Given the description of an element on the screen output the (x, y) to click on. 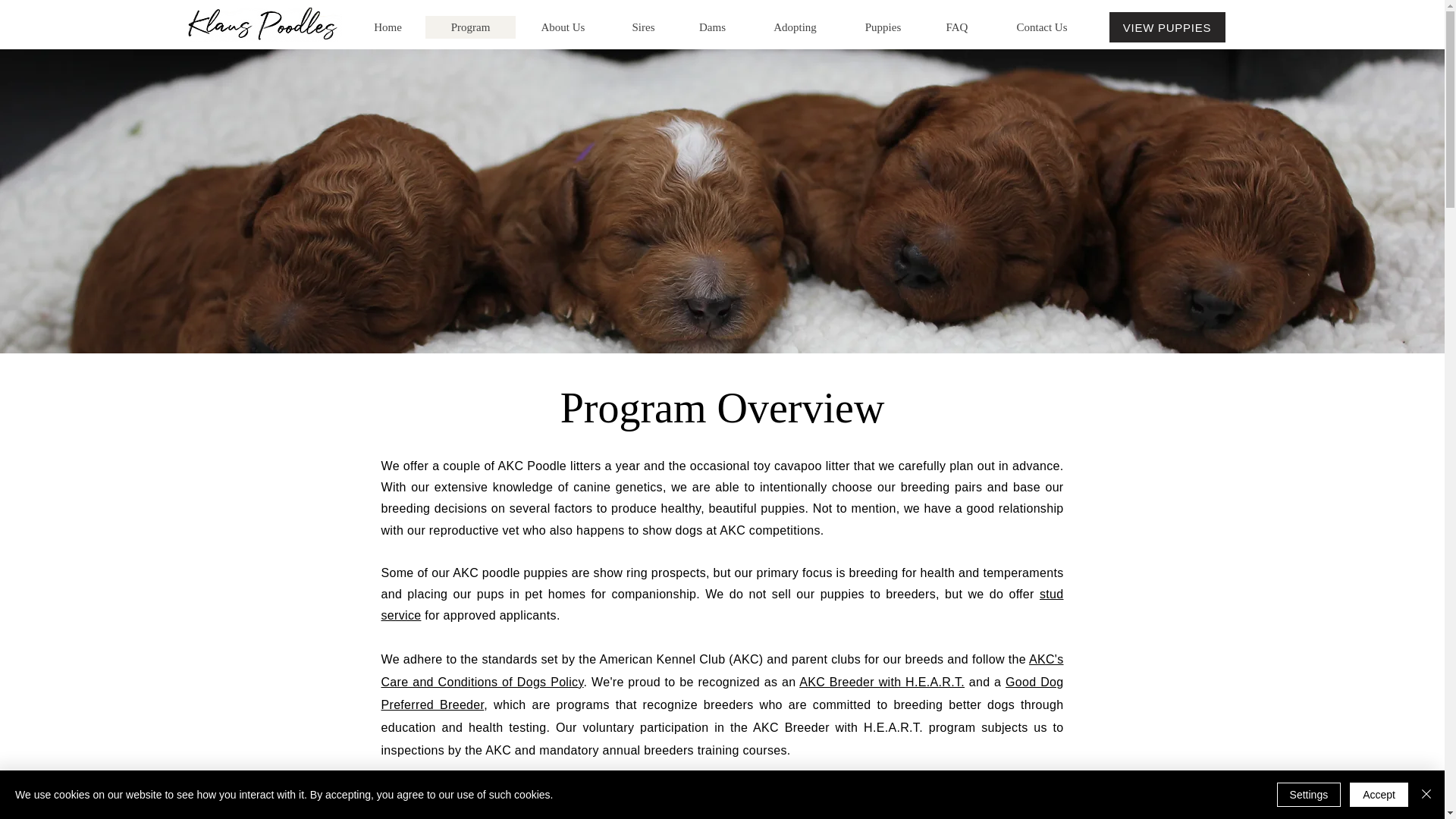
AKC Breeder with H.E.A.R.T. (881, 681)
Home (387, 26)
Adopting (794, 26)
Accept (1378, 794)
Puppies (882, 26)
Contact Us (1040, 26)
Settings (1308, 794)
Dams (712, 26)
Good Dog Preferred Breeder (721, 693)
VIEW PUPPIES (1166, 27)
